Given the description of an element on the screen output the (x, y) to click on. 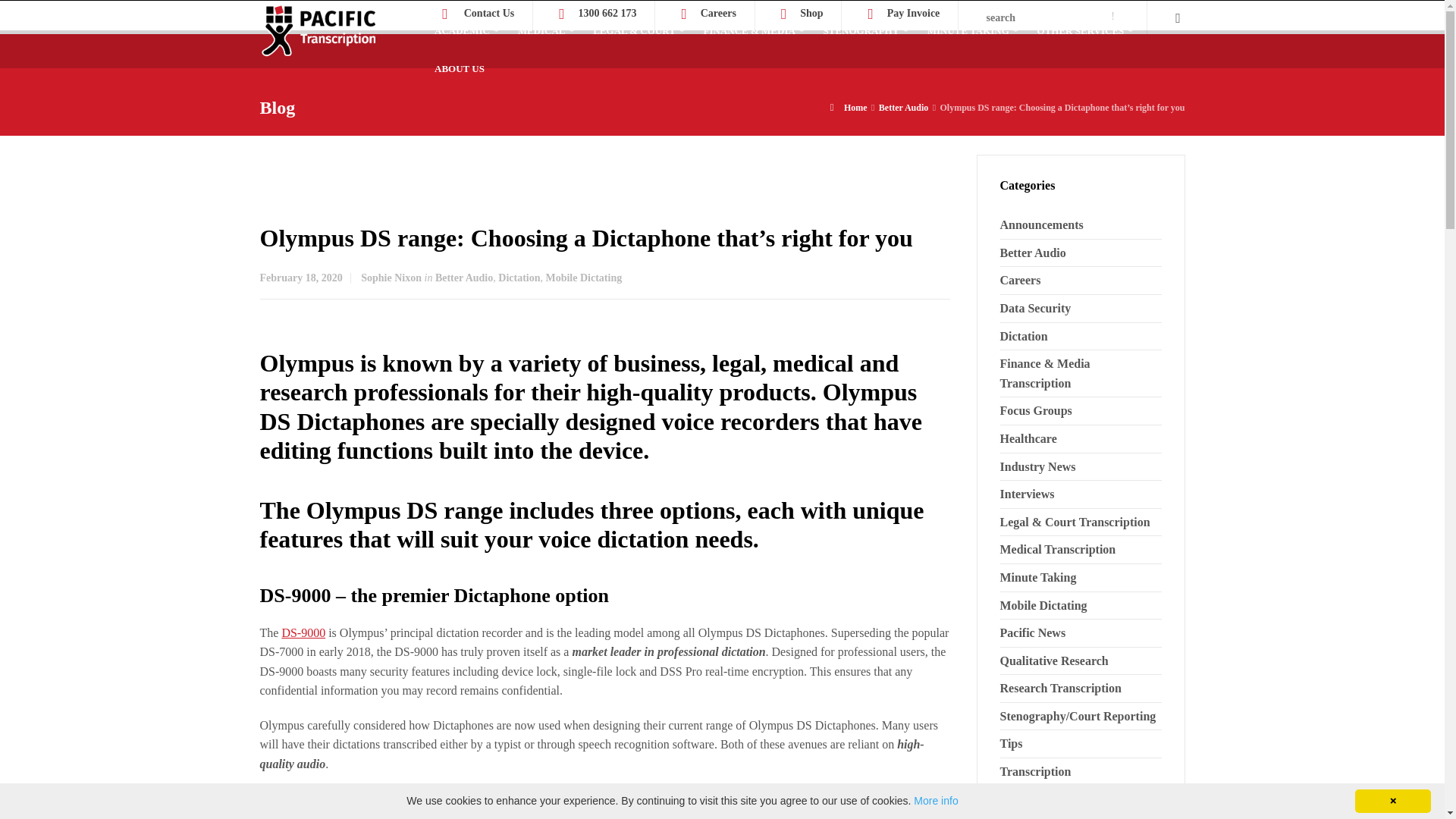
contact us (489, 12)
Pacific Transcription (318, 38)
Careers (718, 12)
STENOGRAPHY (865, 30)
Pay Invoice (913, 12)
 by Sophie Nixon (391, 277)
click to call (607, 12)
ACADEMIC (466, 30)
MEDICAL (546, 30)
Pay Invoice (913, 12)
Shop (810, 12)
Contact Us (489, 12)
Click To Shop (810, 12)
1300 662 173 (607, 12)
MINUTE TAKING (972, 30)
